Given the description of an element on the screen output the (x, y) to click on. 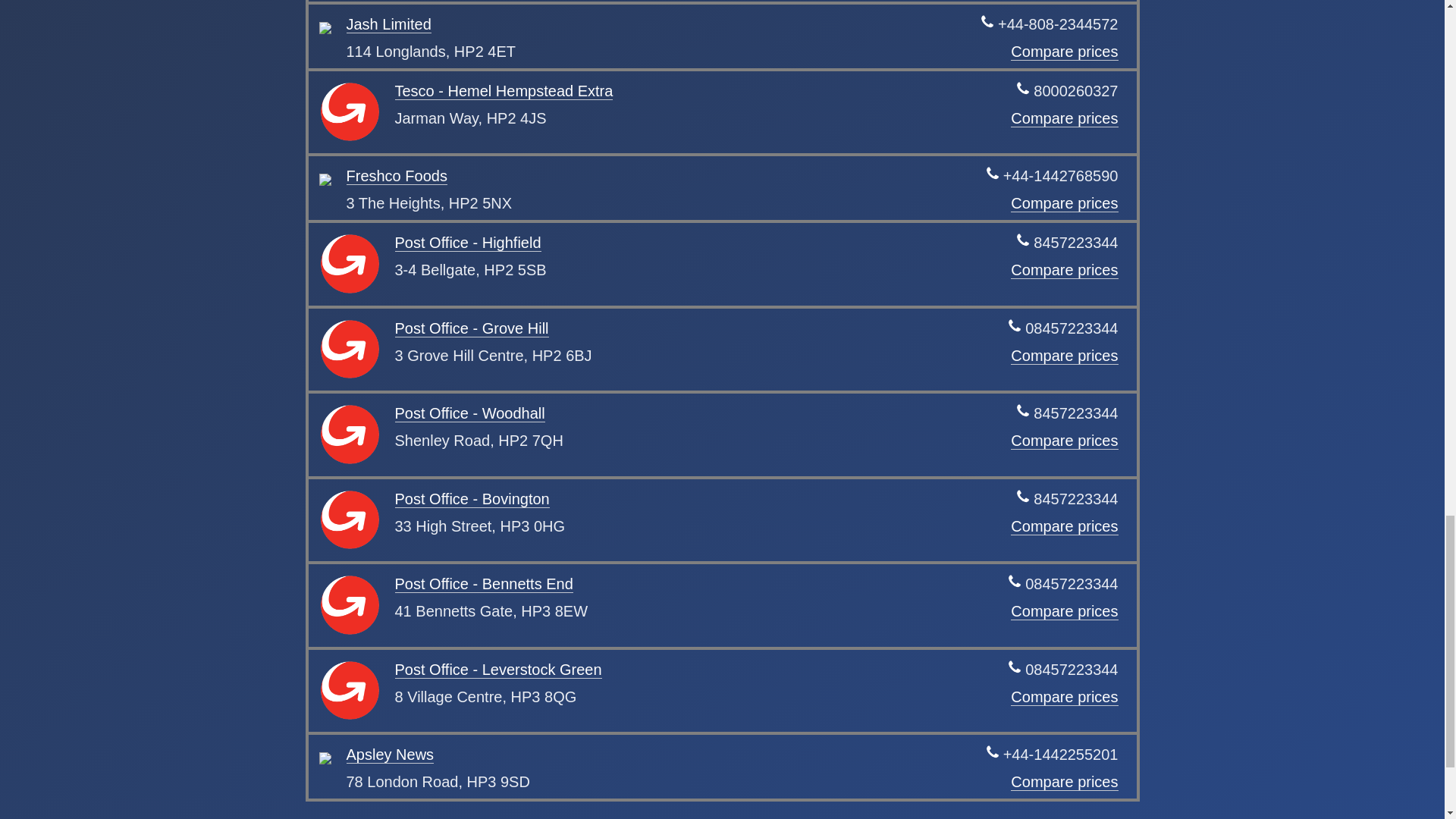
Freshco Foods (396, 176)
Post Office - Highfield (467, 242)
Tesco - Hemel Hempstead Extra (503, 90)
Compare prices (1064, 203)
Compare prices (1064, 118)
Compare prices (1064, 51)
Jash Limited (388, 24)
